Given the description of an element on the screen output the (x, y) to click on. 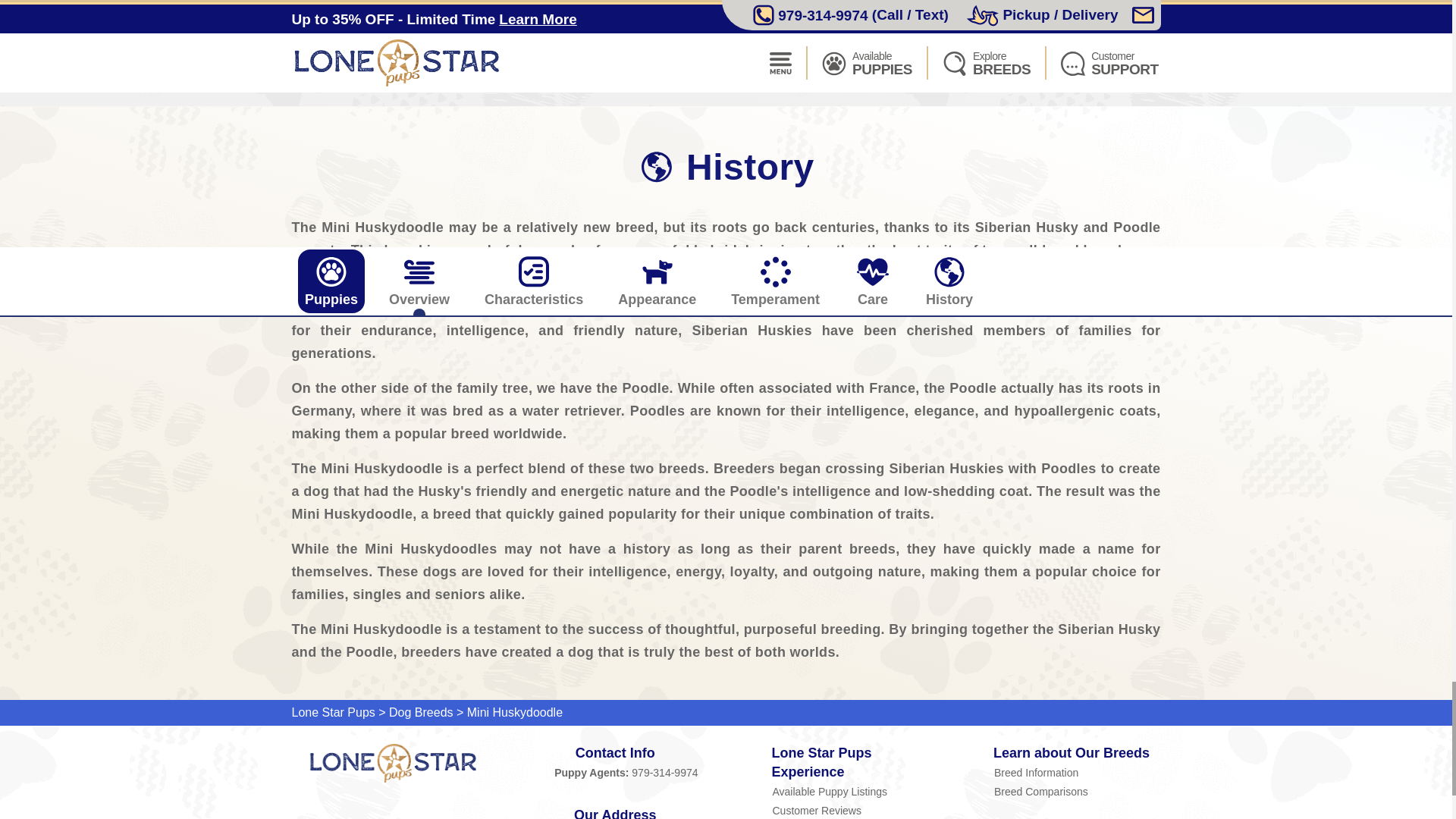
Lone Star Pups (332, 712)
Lone Star Pups (393, 762)
Customer Reviews (855, 810)
Dog Breeds (420, 712)
Breed Information (1076, 772)
Available Puppy Listings (855, 791)
Puppy Agents: 979-314-9974 (615, 772)
Breed Comparisons (1076, 791)
